Given the description of an element on the screen output the (x, y) to click on. 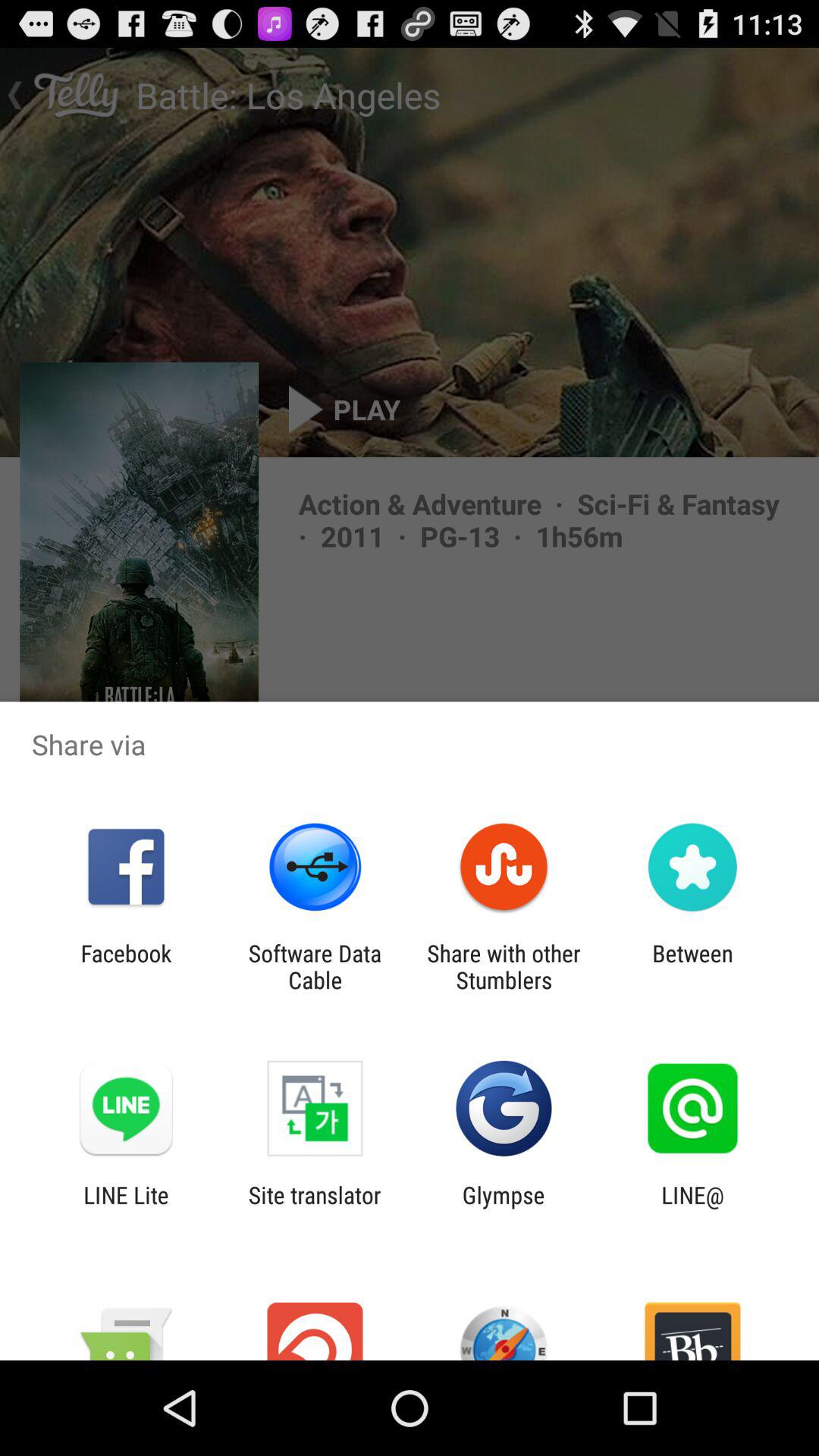
choose the item to the right of software data cable app (503, 966)
